Given the description of an element on the screen output the (x, y) to click on. 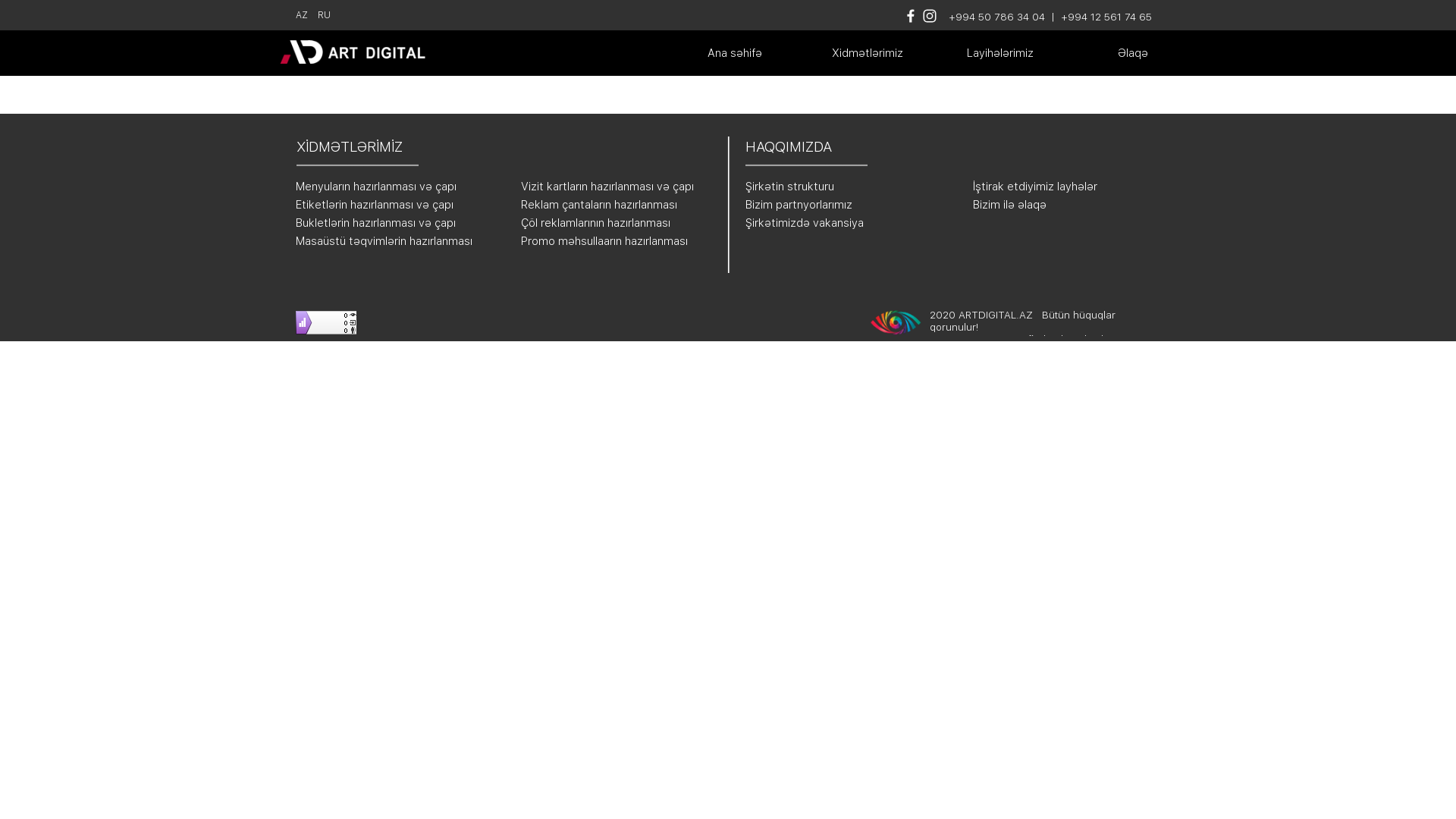
RU Element type: text (323, 15)
www.ayvus.com Element type: text (967, 338)
AZ Element type: text (300, 15)
+994 50 786 34 04 Element type: text (996, 16)
+994 12 561 74 65 Element type: text (1105, 16)
